Given the description of an element on the screen output the (x, y) to click on. 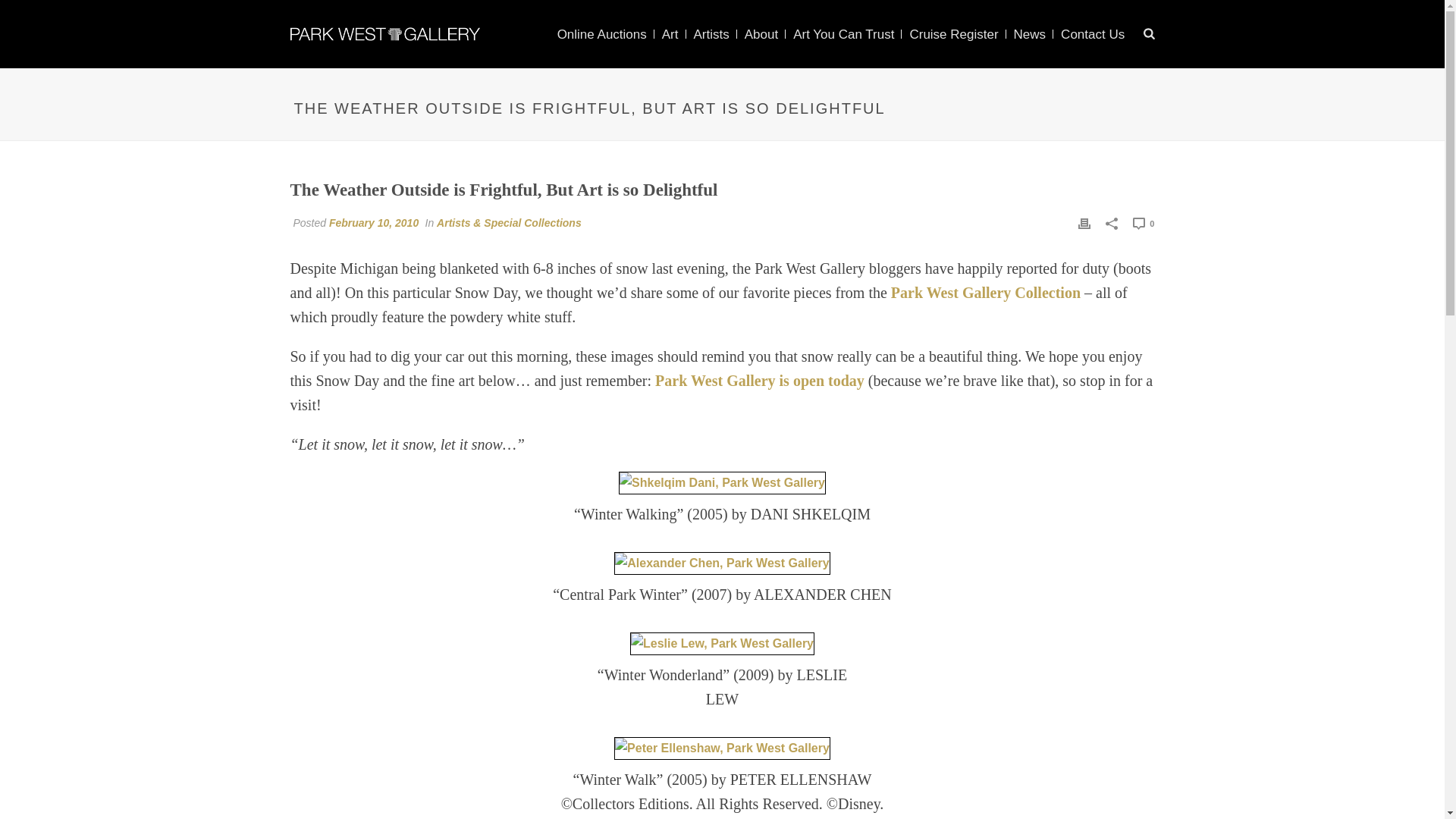
Art (669, 34)
Contact Us (1092, 34)
About (761, 34)
News (1030, 34)
Art You Can Trust (843, 34)
Cruise Register (953, 34)
Cruise Register (953, 34)
Artists (710, 34)
Art You Can Trust (843, 34)
Contact Us (1092, 34)
News (1030, 34)
Online Auctions (601, 34)
Art (669, 34)
Artists (710, 34)
Online Auctions (601, 34)
